Given the description of an element on the screen output the (x, y) to click on. 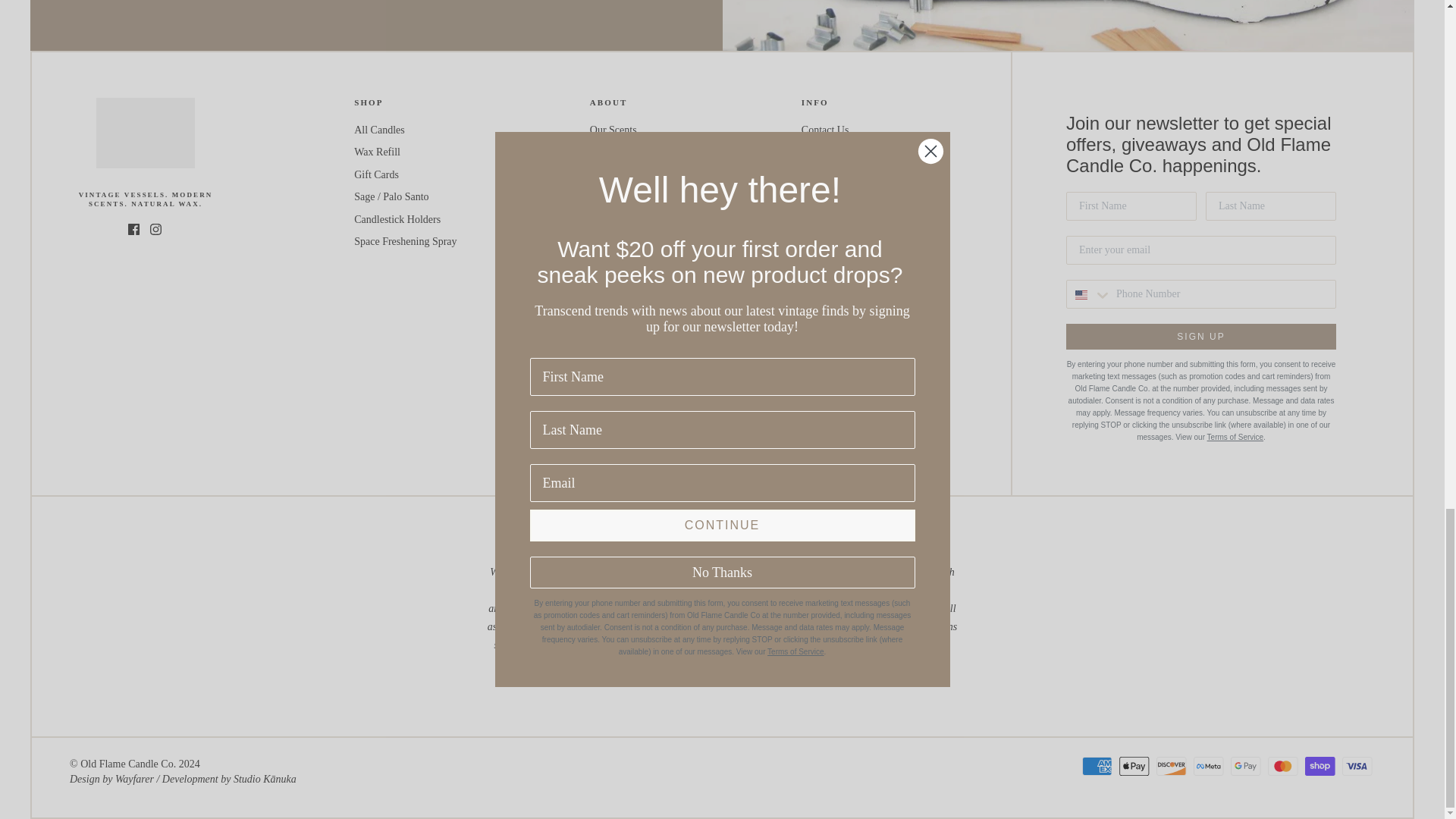
United States (1081, 295)
